Given the description of an element on the screen output the (x, y) to click on. 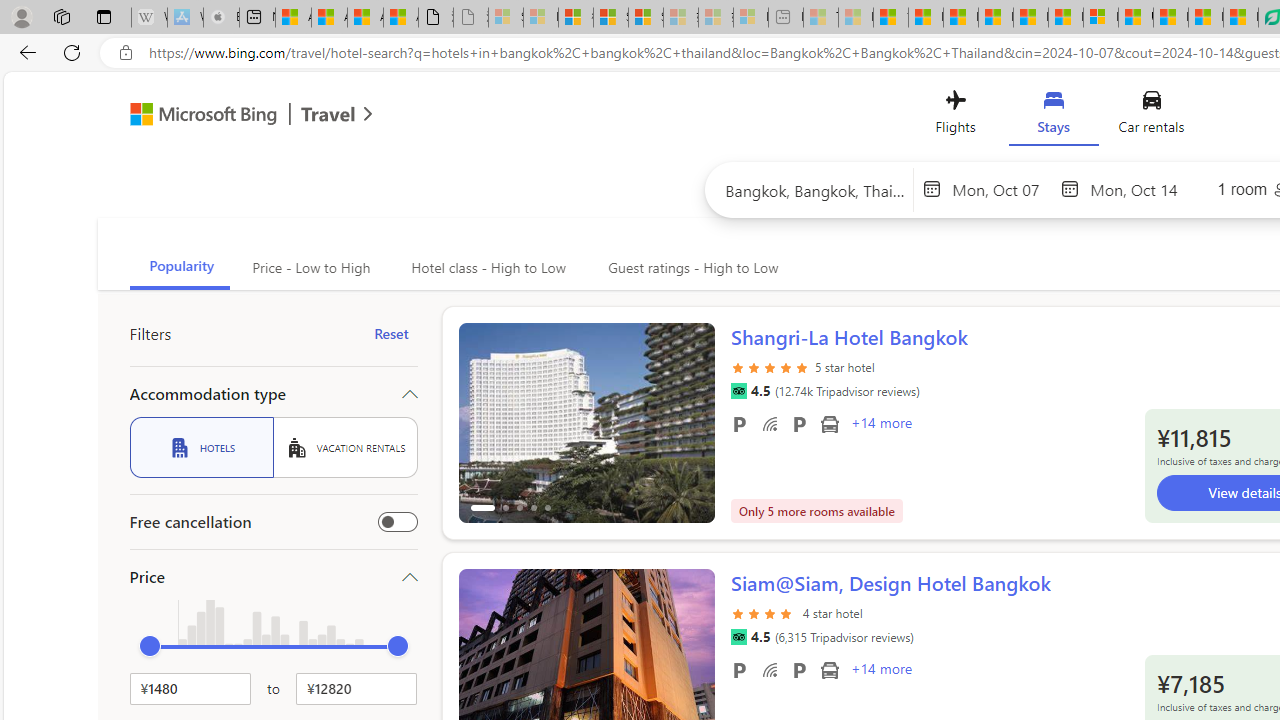
Sign in to your Microsoft account - Sleeping (506, 17)
Price (273, 576)
Free WiFi (769, 669)
Search hotels or place (815, 190)
Flights (955, 116)
Reset (391, 333)
Airport transportation (829, 669)
ScrollLeft (482, 660)
